Given the description of an element on the screen output the (x, y) to click on. 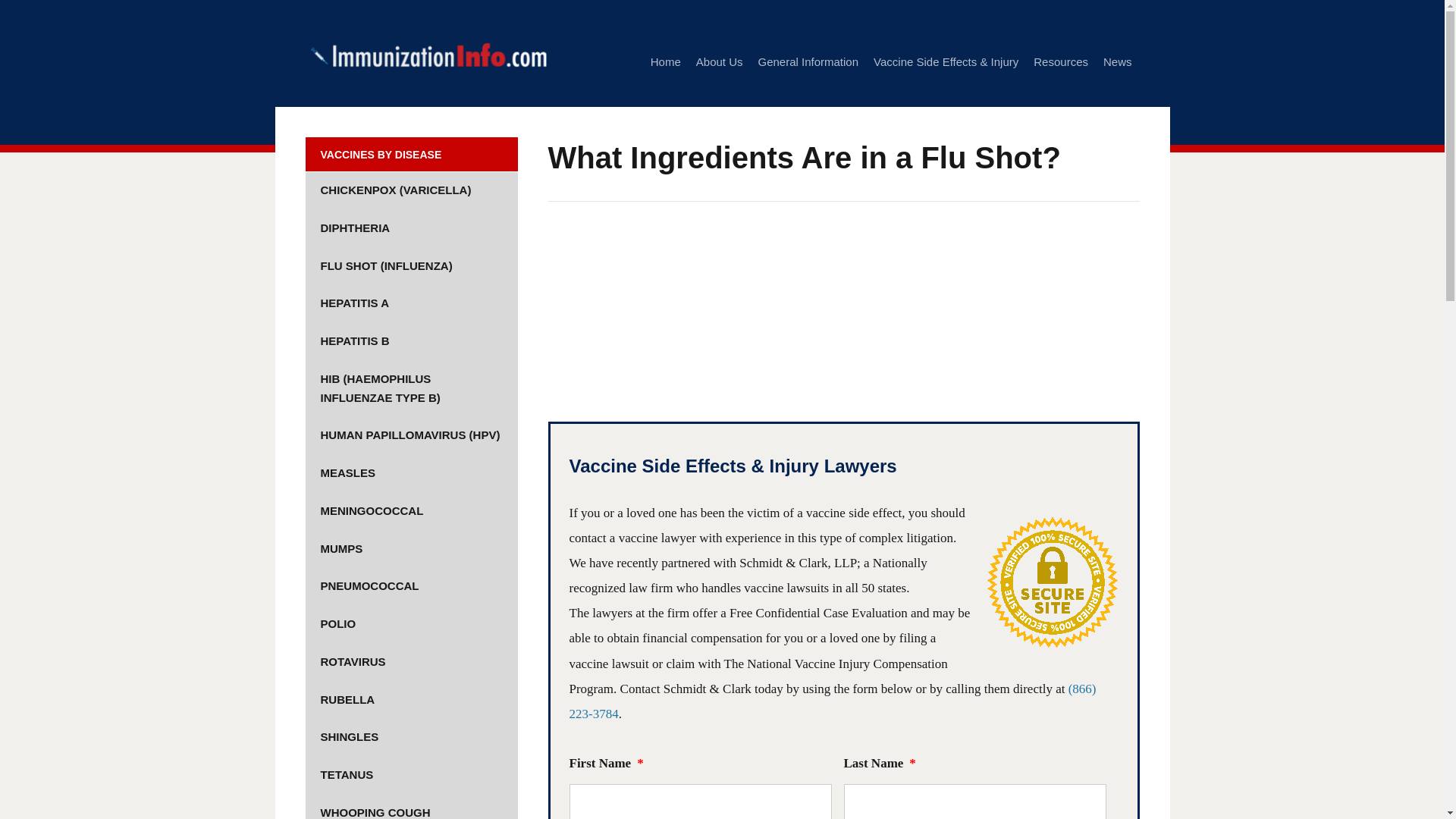
General Information (807, 62)
About Us (719, 62)
